Given the description of an element on the screen output the (x, y) to click on. 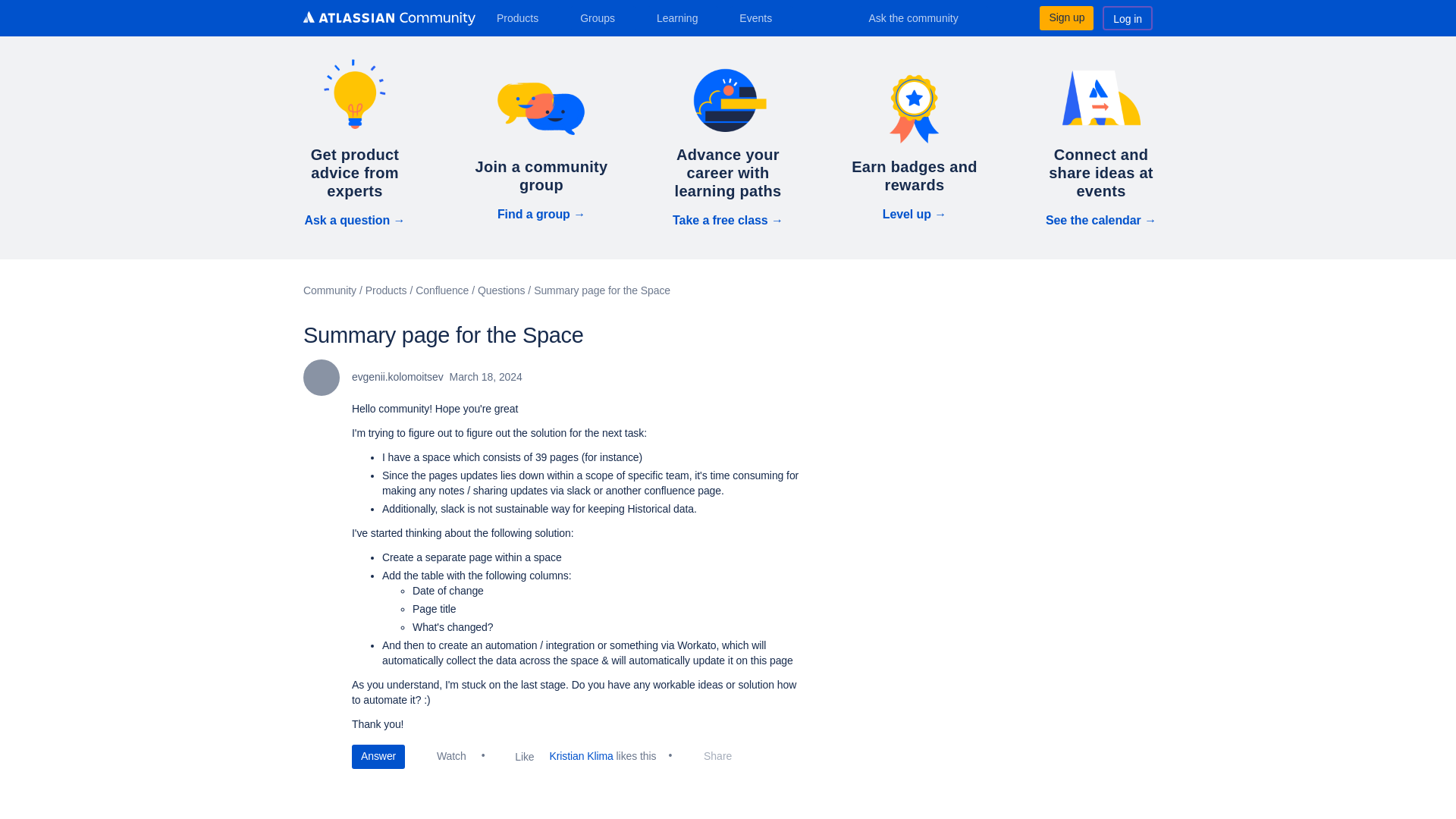
Log in (1127, 17)
Atlassian Community logo (389, 18)
Learning (682, 17)
Products (523, 17)
Sign up (1066, 17)
Groups (602, 17)
Ask the community  (923, 17)
Atlassian Community logo (389, 19)
evgenii.kolomoitsev (320, 377)
Events (761, 17)
